Given the description of an element on the screen output the (x, y) to click on. 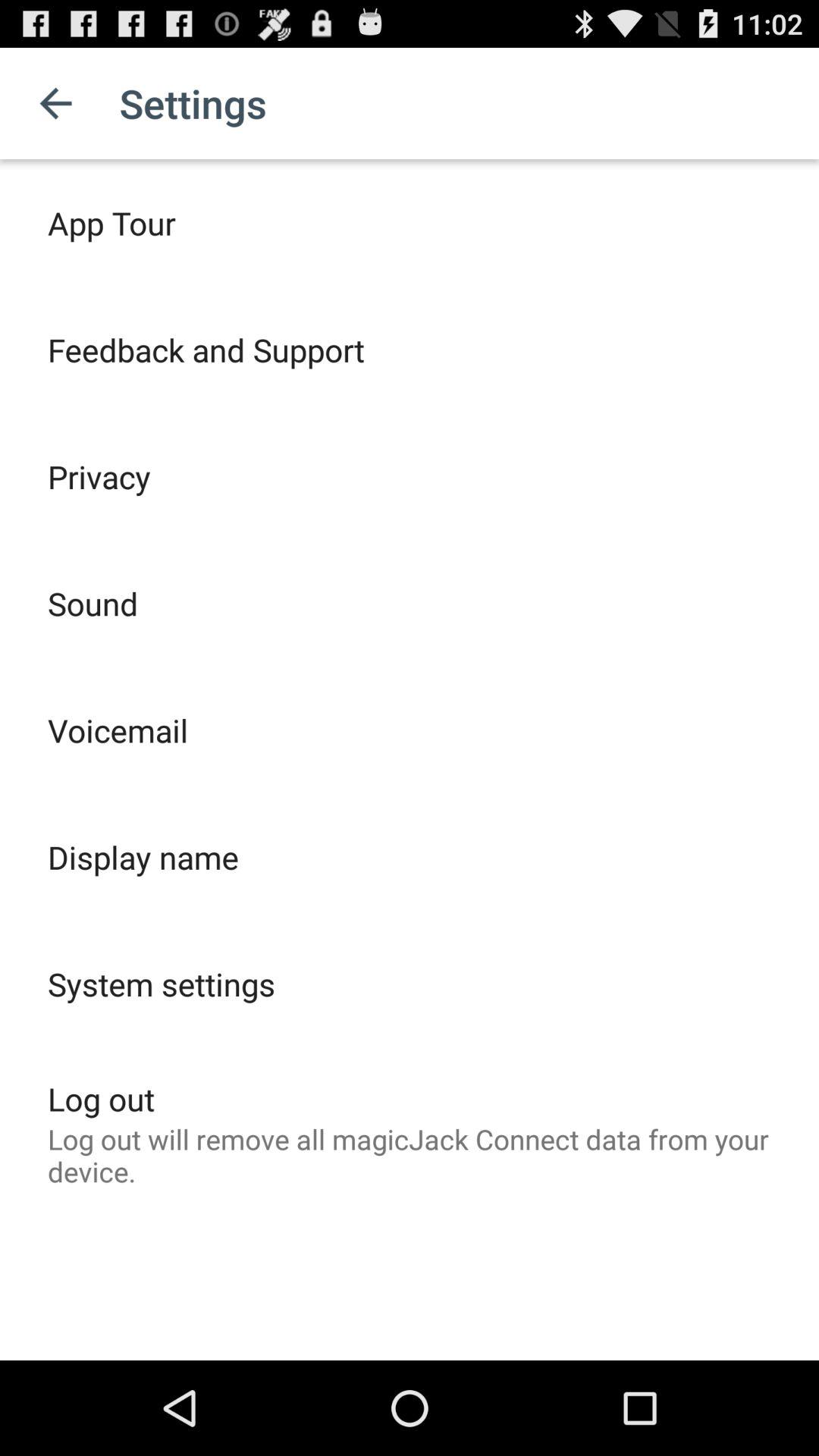
tap icon above app tour item (55, 103)
